Given the description of an element on the screen output the (x, y) to click on. 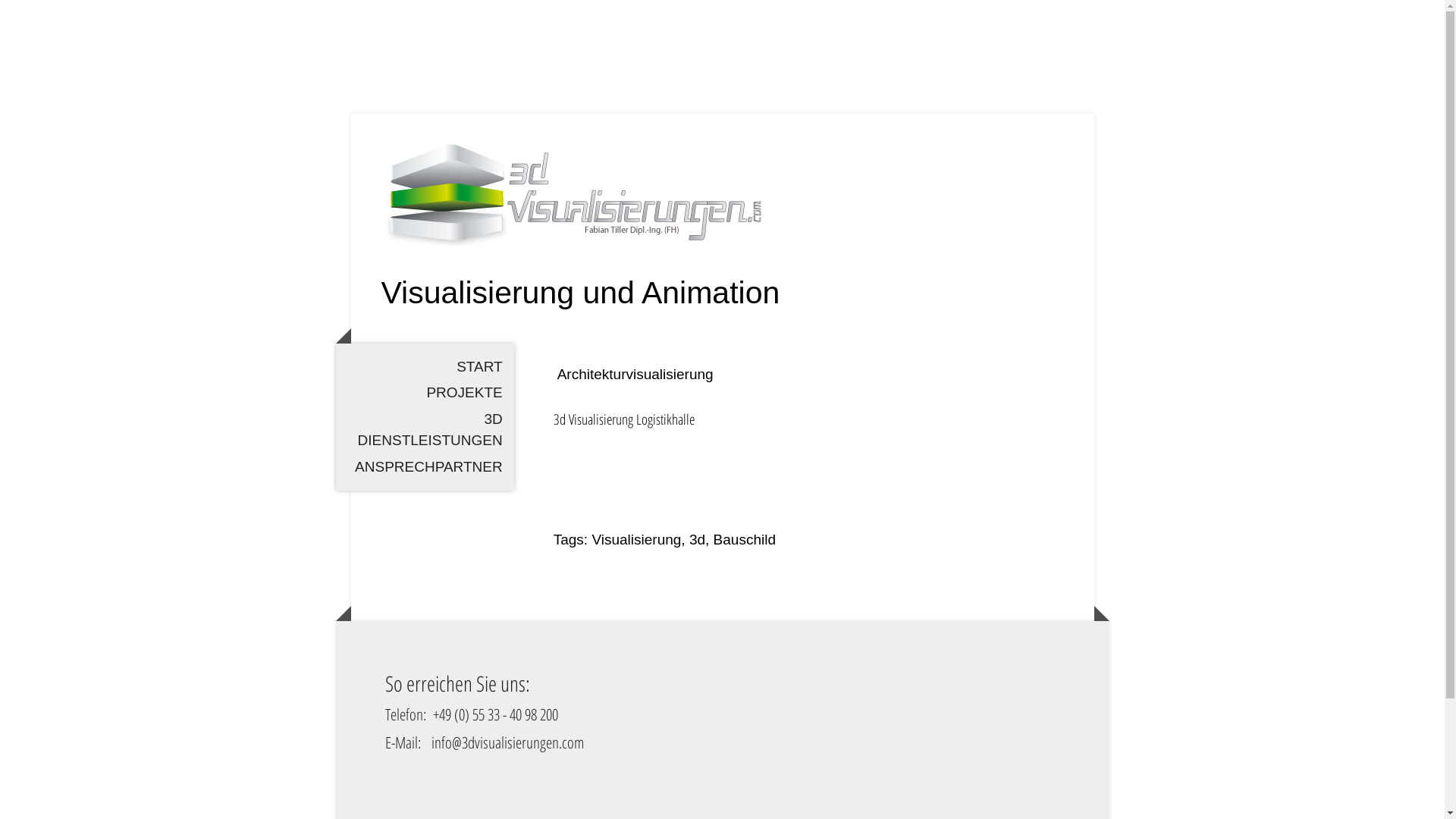
Bauschild Element type: text (744, 539)
3d Element type: text (697, 539)
Architekturvisualisierung Element type: text (635, 374)
PROJEKTE Element type: text (424, 392)
Visualisierung Element type: text (635, 539)
3D DIENSTLEISTUNGEN Element type: text (424, 430)
START Element type: text (424, 367)
Visualisierung und Animation Element type: text (579, 297)
ANSPRECHPARTNER Element type: text (424, 467)
